Given the description of an element on the screen output the (x, y) to click on. 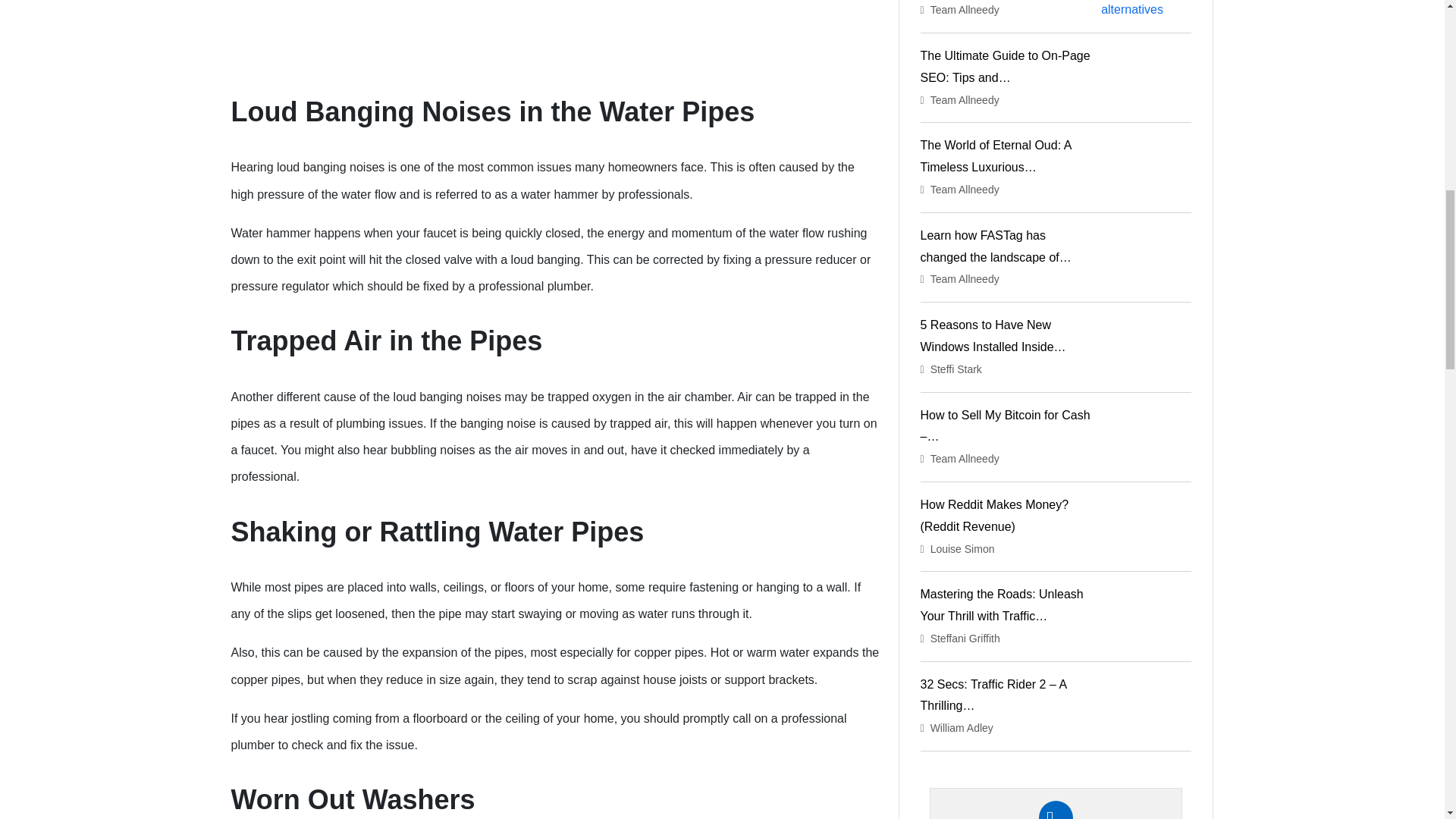
Team Allneedy (964, 9)
Advertisement (554, 28)
Team Allneedy (964, 278)
Team Allneedy (964, 189)
Team Allneedy (964, 100)
